Given the description of an element on the screen output the (x, y) to click on. 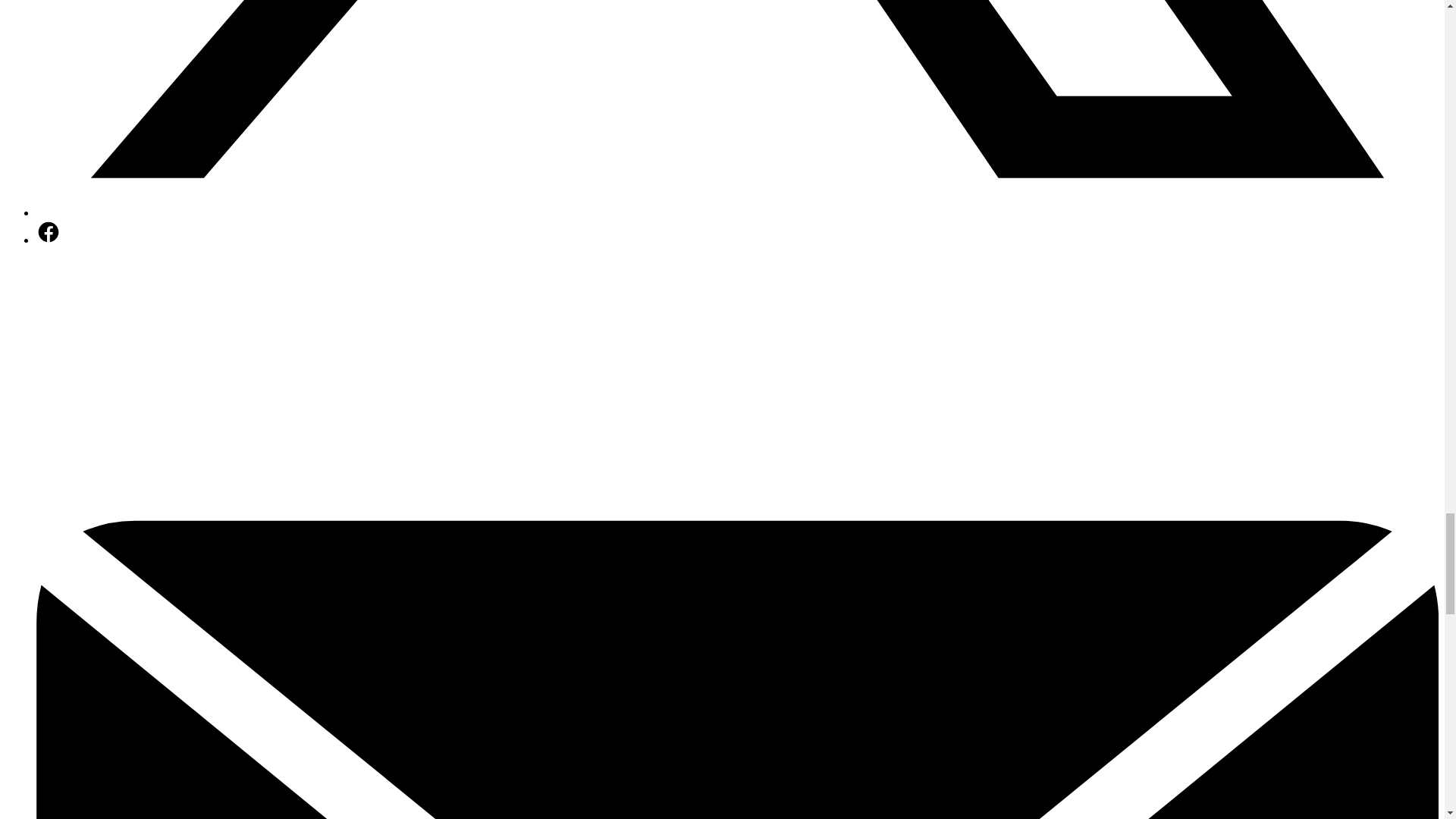
Share this page to Facebook (48, 239)
